Given the description of an element on the screen output the (x, y) to click on. 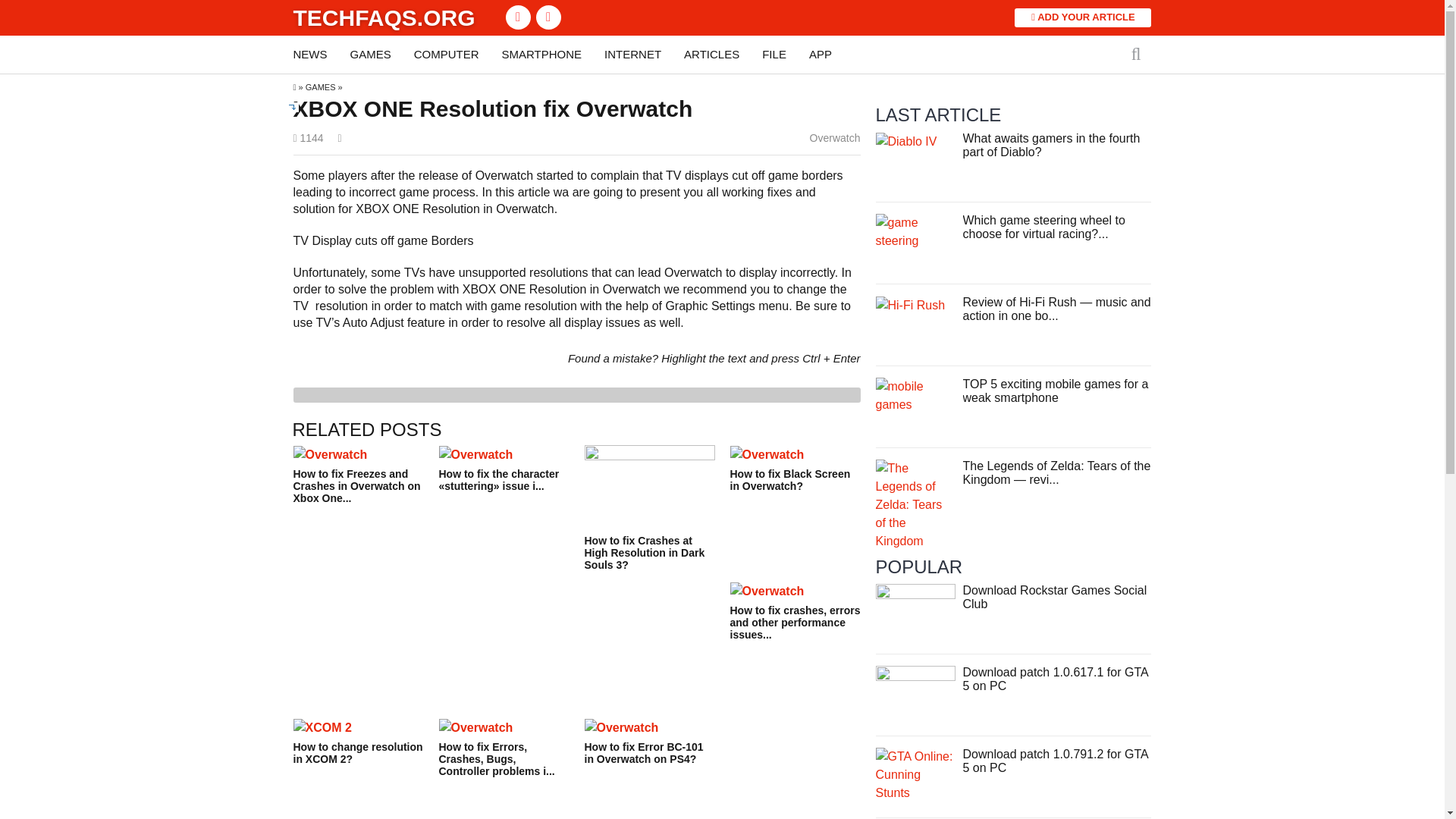
How to fix Error BC-101 in Overwatch on PS4? (648, 742)
Overwatch (834, 137)
How to fix crashes, errors and other performance issues... (794, 611)
Download patch 1.0.617.1 for GTA 5 on PC (1055, 678)
Which game steering wheel to choose for virtual racing? (915, 230)
TOP 5 exciting mobile games for a weak smartphone (915, 394)
What awaits gamers in the fourth part of Diablo? (1051, 144)
TOP 5 exciting mobile games for a weak smartphone (1055, 390)
TECHFAQS.ORG (383, 17)
COMPUTER (446, 54)
